Given the description of an element on the screen output the (x, y) to click on. 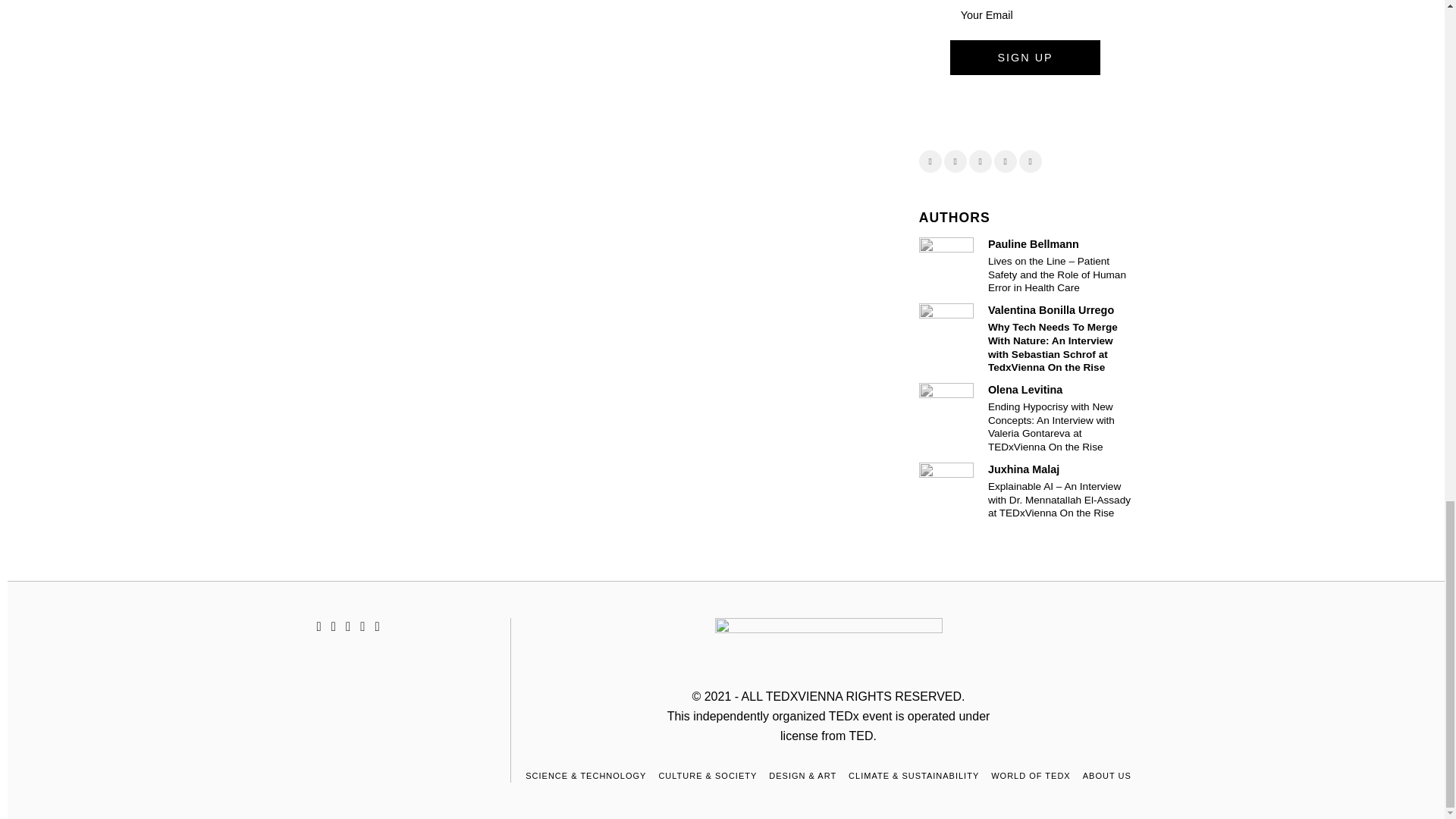
YouTube (1030, 160)
Sign Up (1025, 57)
Sign Up (1025, 57)
Olena Levitina (946, 410)
Facebook (930, 160)
Valentina Bonilla Urrego (946, 330)
Twitter (954, 160)
Olena Levitina (1025, 389)
Instagram (980, 160)
Valentina Bonilla Urrego (1050, 309)
